Given the description of an element on the screen output the (x, y) to click on. 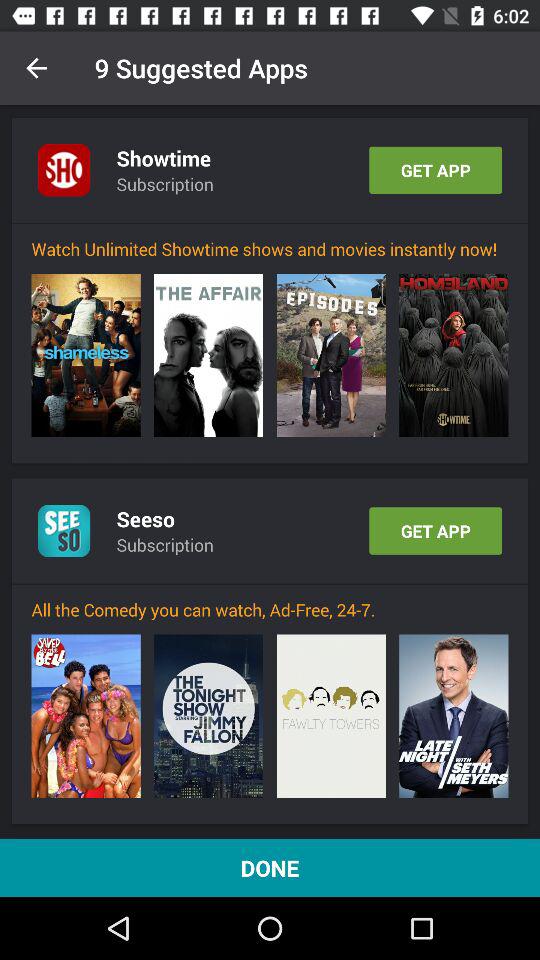
swipe until done item (270, 867)
